Given the description of an element on the screen output the (x, y) to click on. 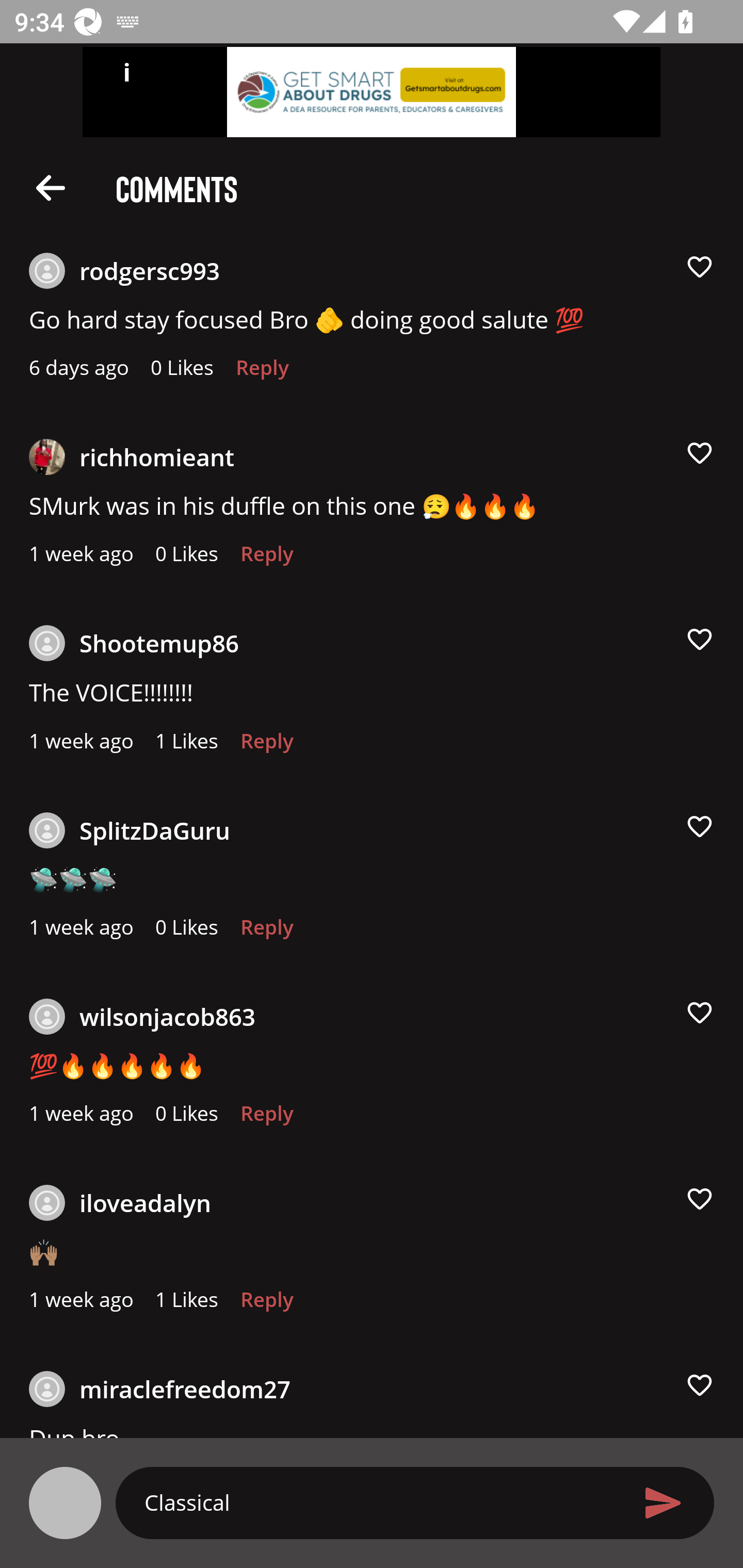
Description (50, 187)
Reply (261, 372)
Reply (266, 558)
Reply (266, 746)
Reply (266, 932)
Reply (266, 1117)
Reply (266, 1304)
Classical (378, 1502)
